Given the description of an element on the screen output the (x, y) to click on. 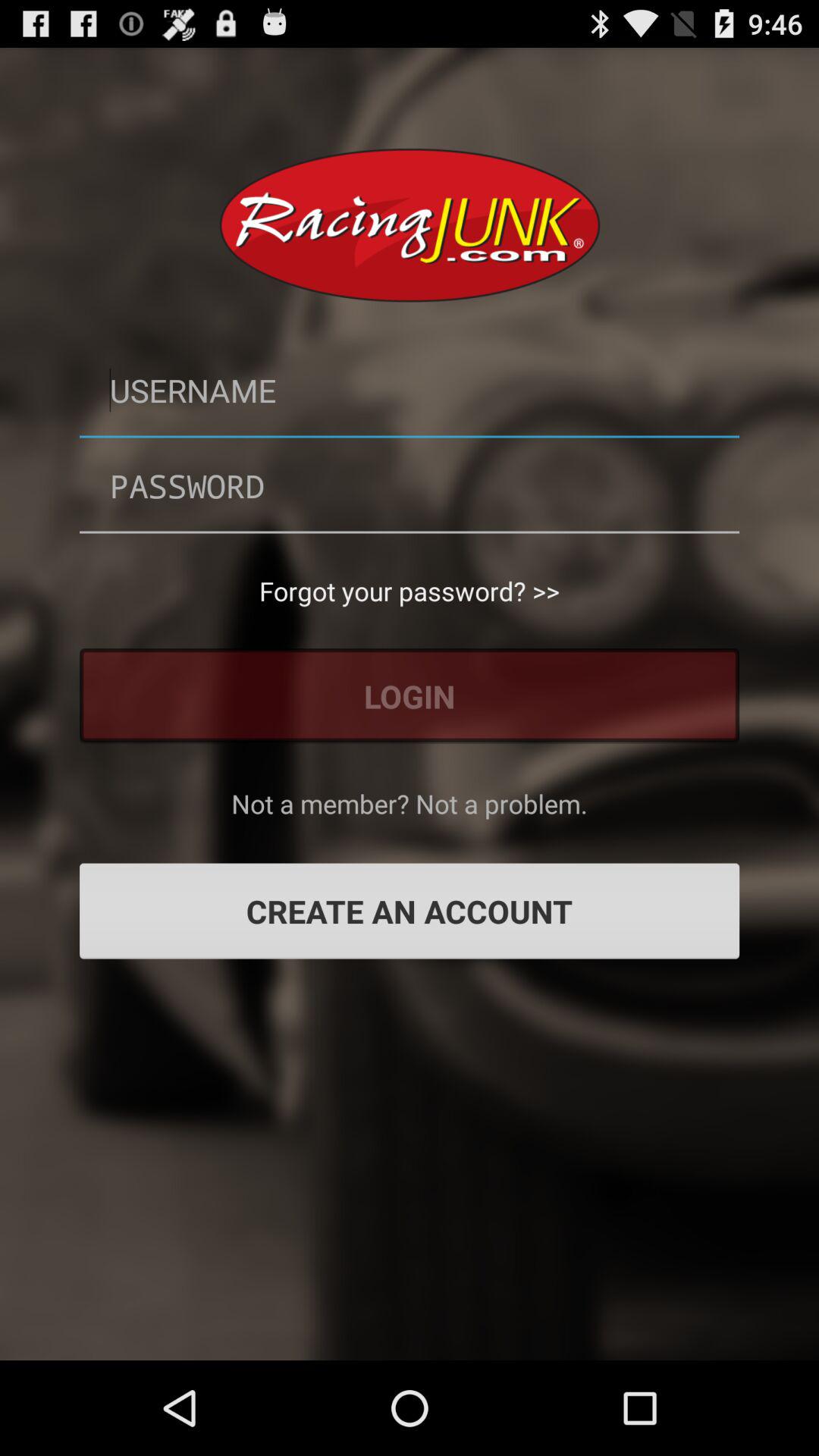
tap icon below forgot your password? >> item (409, 695)
